Given the description of an element on the screen output the (x, y) to click on. 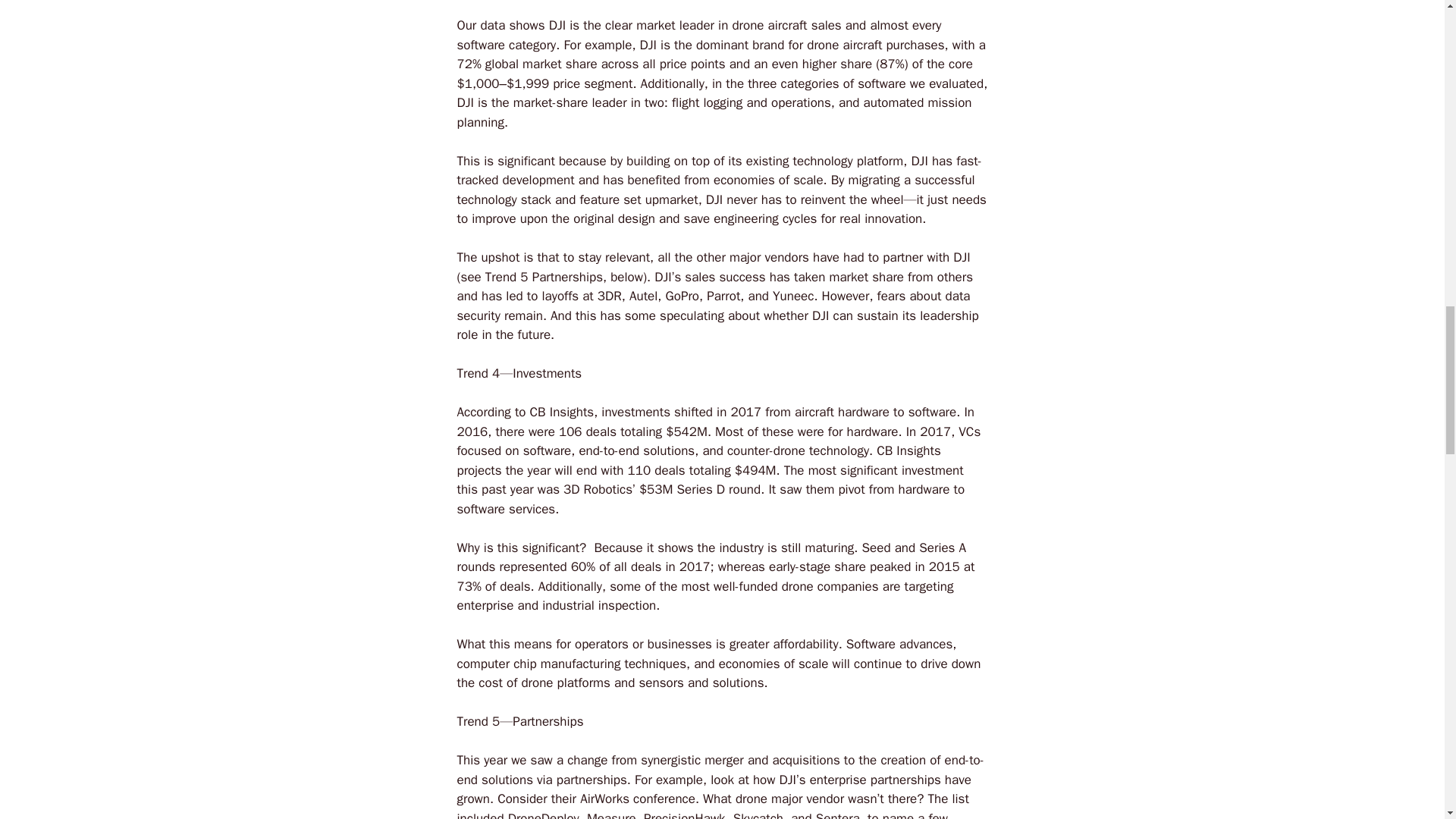
CB Insights (561, 412)
AirWorks (603, 798)
